Given the description of an element on the screen output the (x, y) to click on. 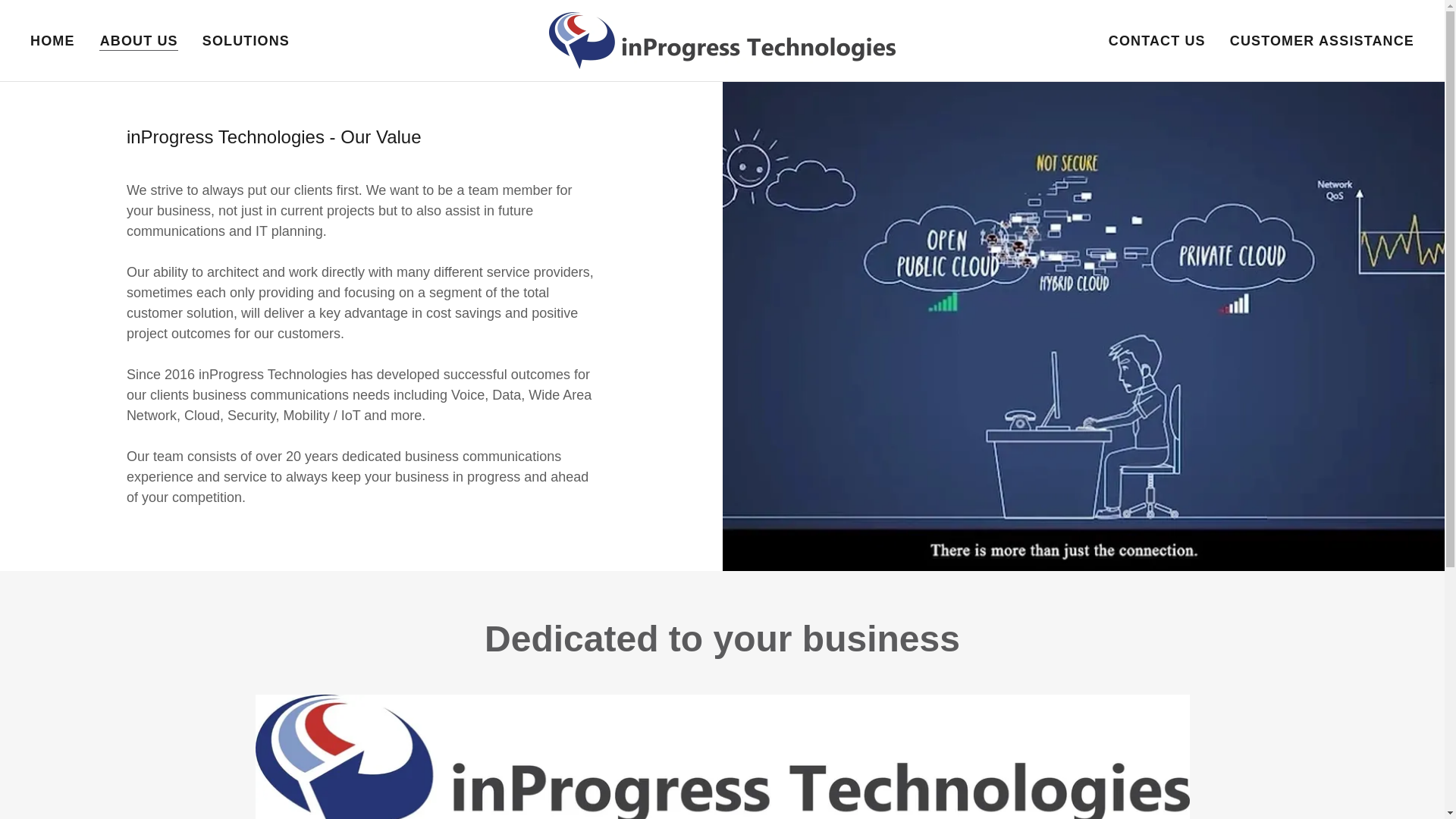
CUSTOMER ASSISTANCE (1321, 40)
CONTACT US (1156, 40)
SOLUTIONS (246, 40)
In Progress Technologies (721, 38)
HOME (53, 40)
